Given the description of an element on the screen output the (x, y) to click on. 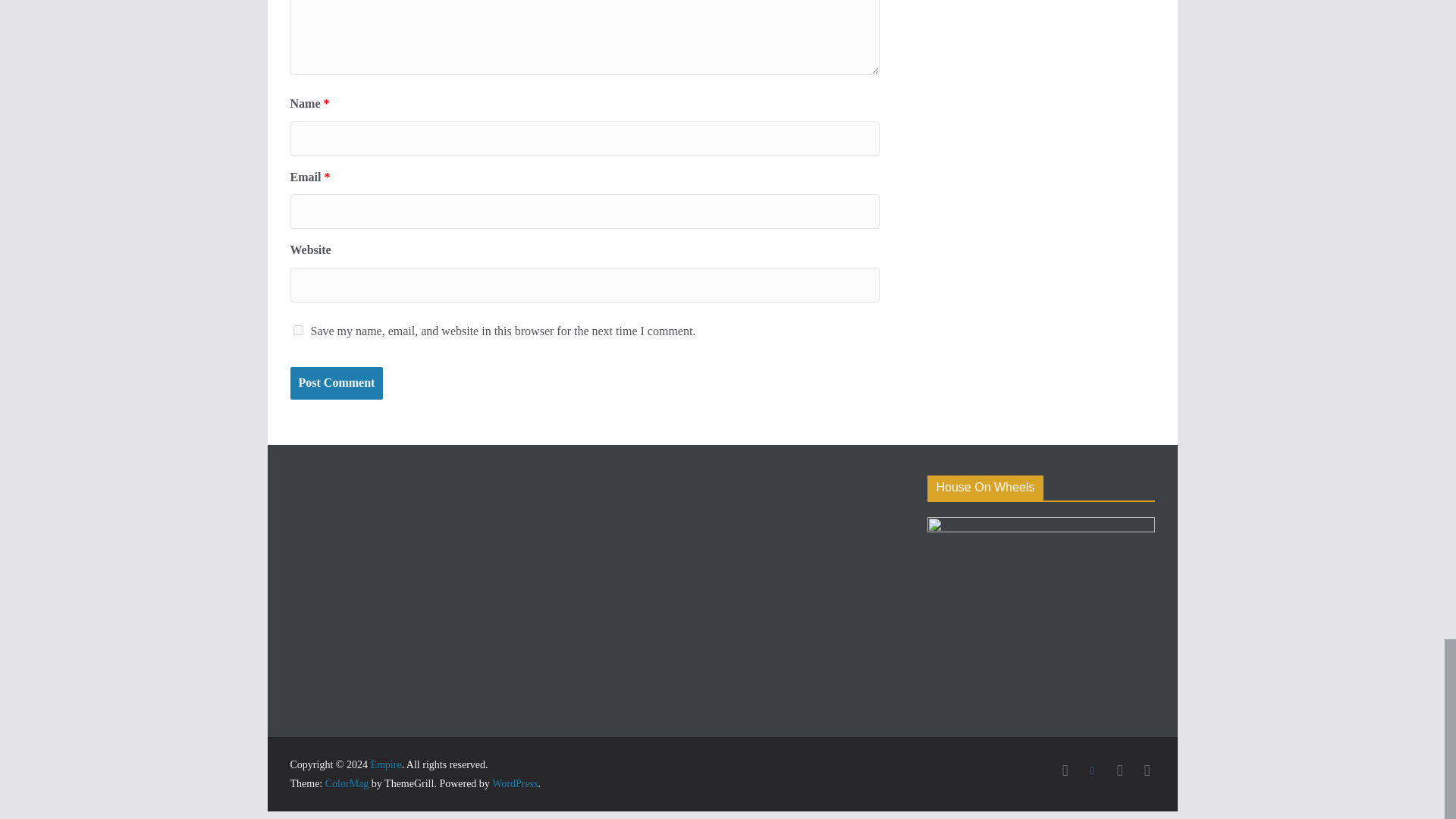
Empire (385, 764)
ColorMag (346, 783)
Empire (385, 764)
Post Comment (335, 382)
WordPress (514, 783)
yes (297, 329)
Post Comment (335, 382)
